Given the description of an element on the screen output the (x, y) to click on. 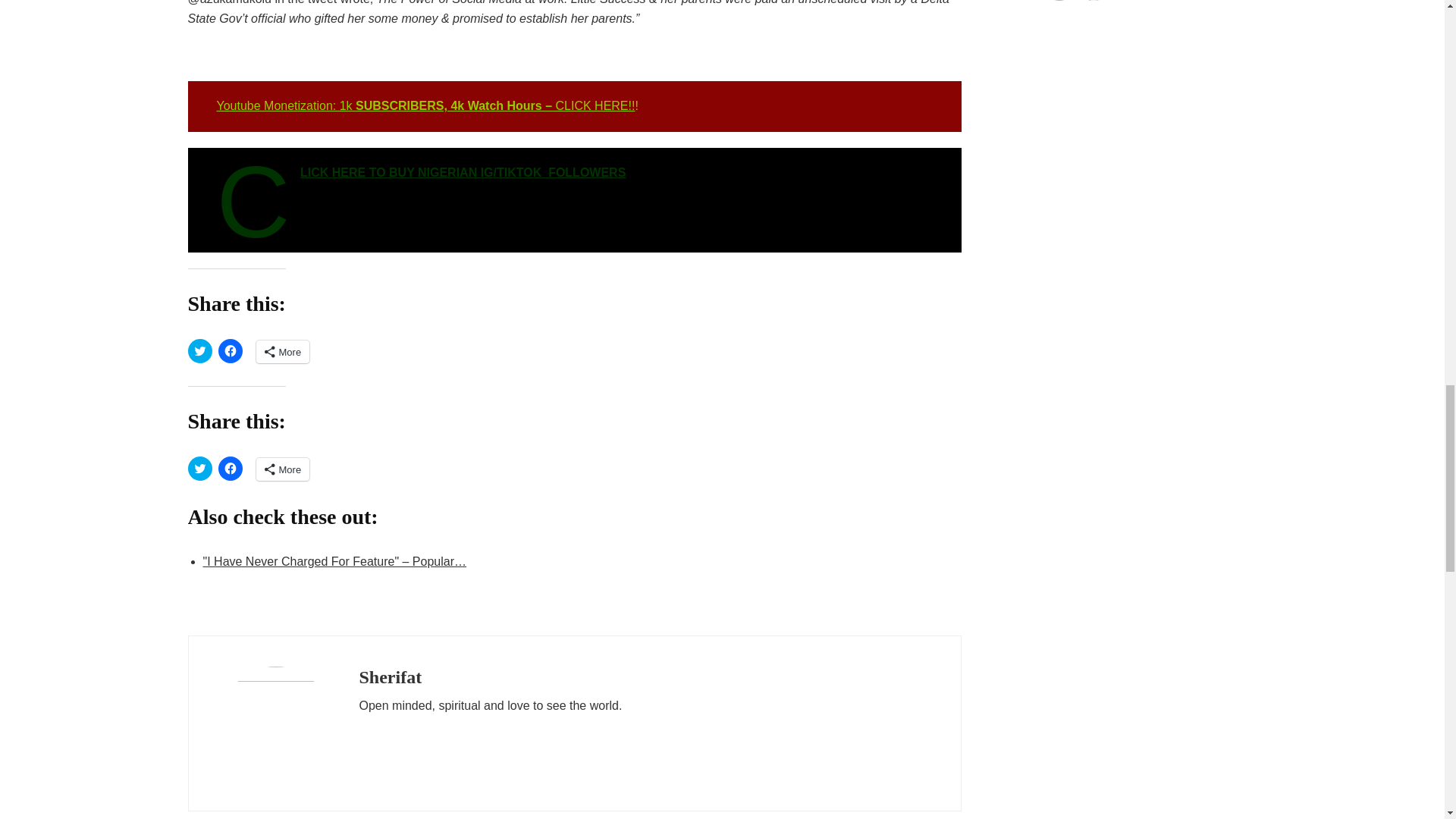
Click to share on Facebook (230, 351)
Click to share on Twitter (199, 351)
